Given the description of an element on the screen output the (x, y) to click on. 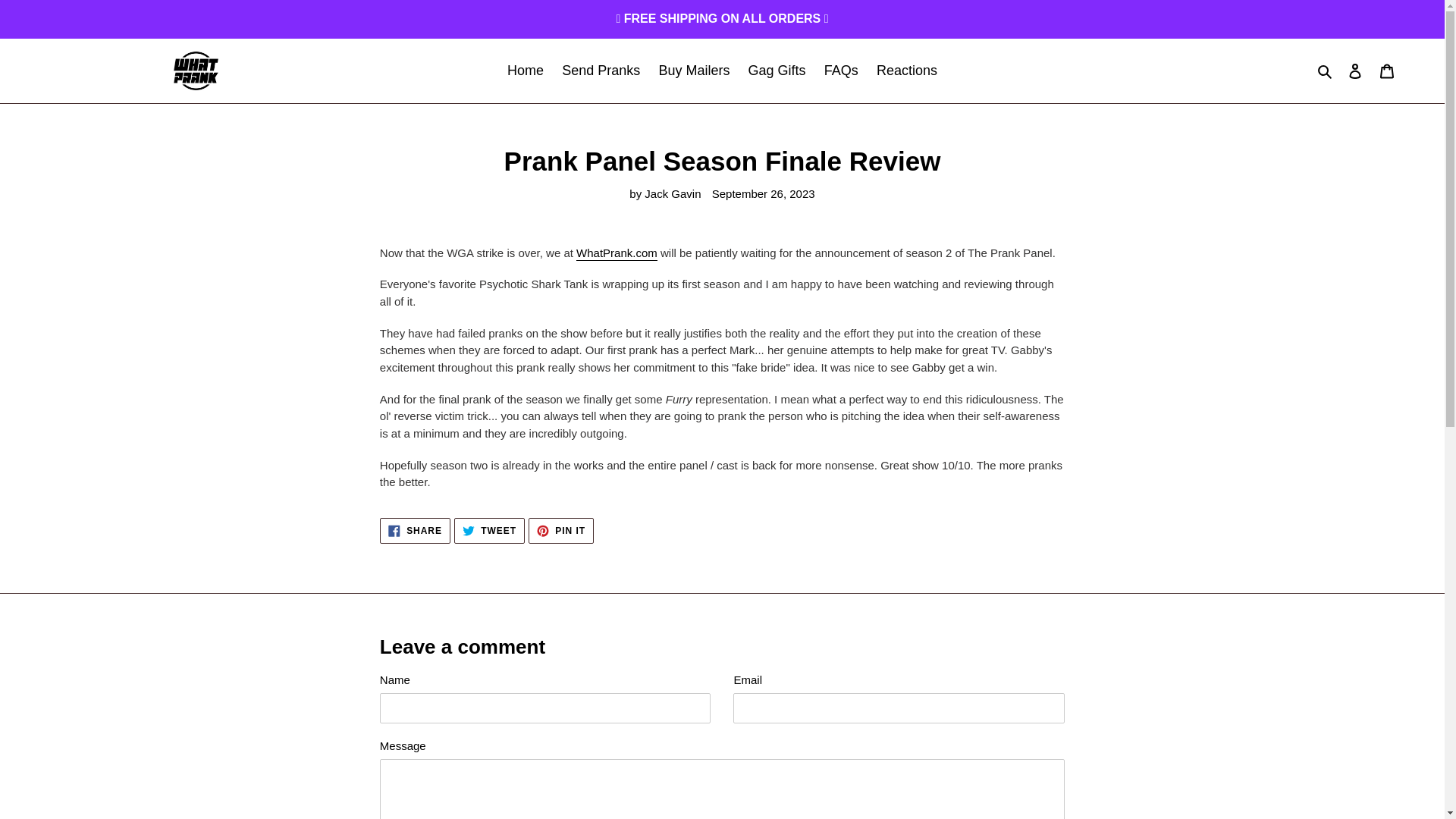
Send Pranks (600, 70)
Log in (1355, 70)
Cart (489, 530)
Home (1387, 70)
Gag Gifts (525, 70)
FAQs (414, 530)
Search (777, 70)
